Given the description of an element on the screen output the (x, y) to click on. 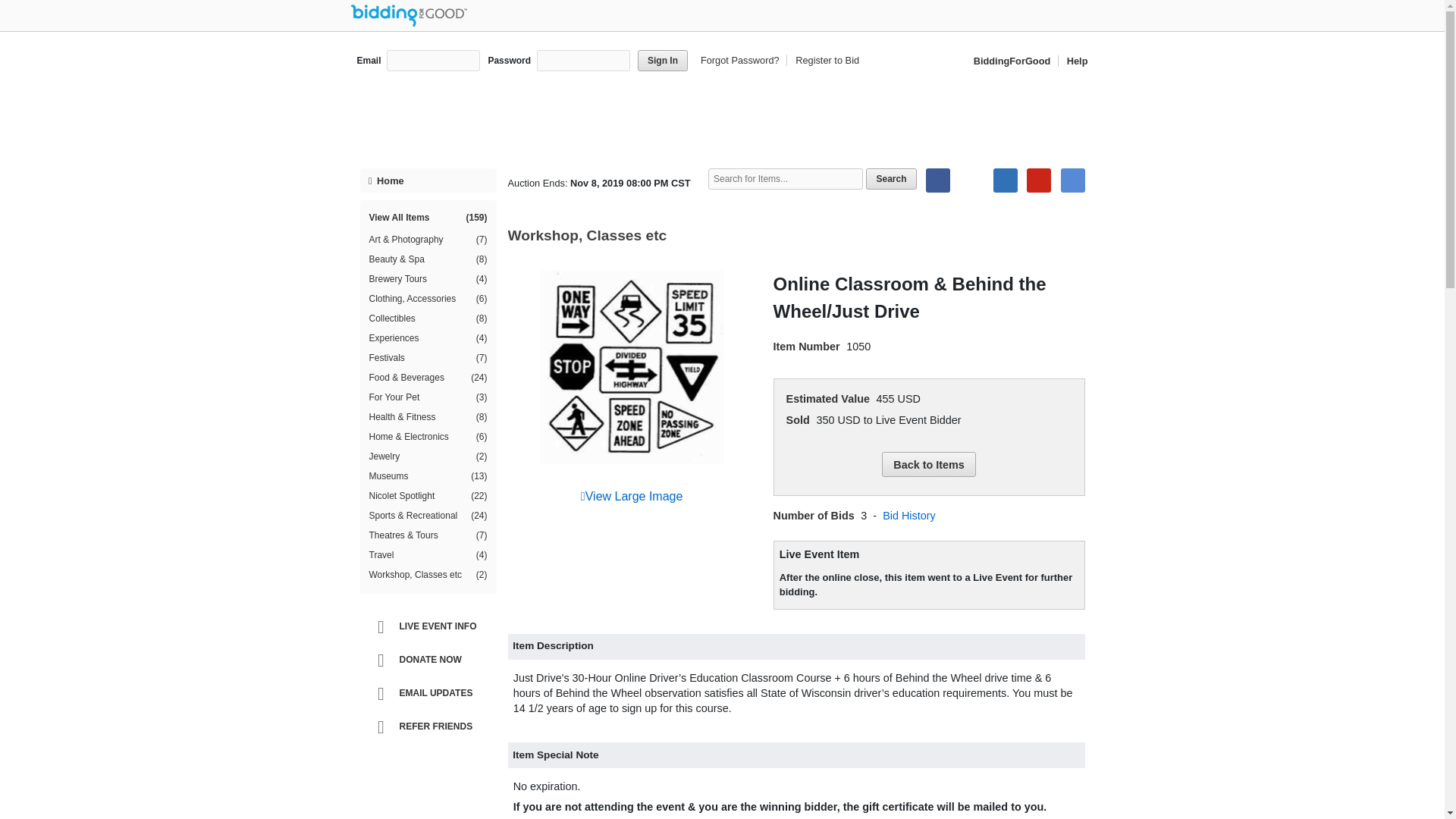
LinkedIn (1004, 180)
Home (427, 180)
LIVE EVENT INFO (431, 626)
Register to Bid (824, 60)
View Large Image (631, 495)
EMAIL UPDATES (431, 693)
Pinterest (1038, 180)
Back to Items (928, 463)
REFER FRIENDS (431, 727)
